Given the description of an element on the screen output the (x, y) to click on. 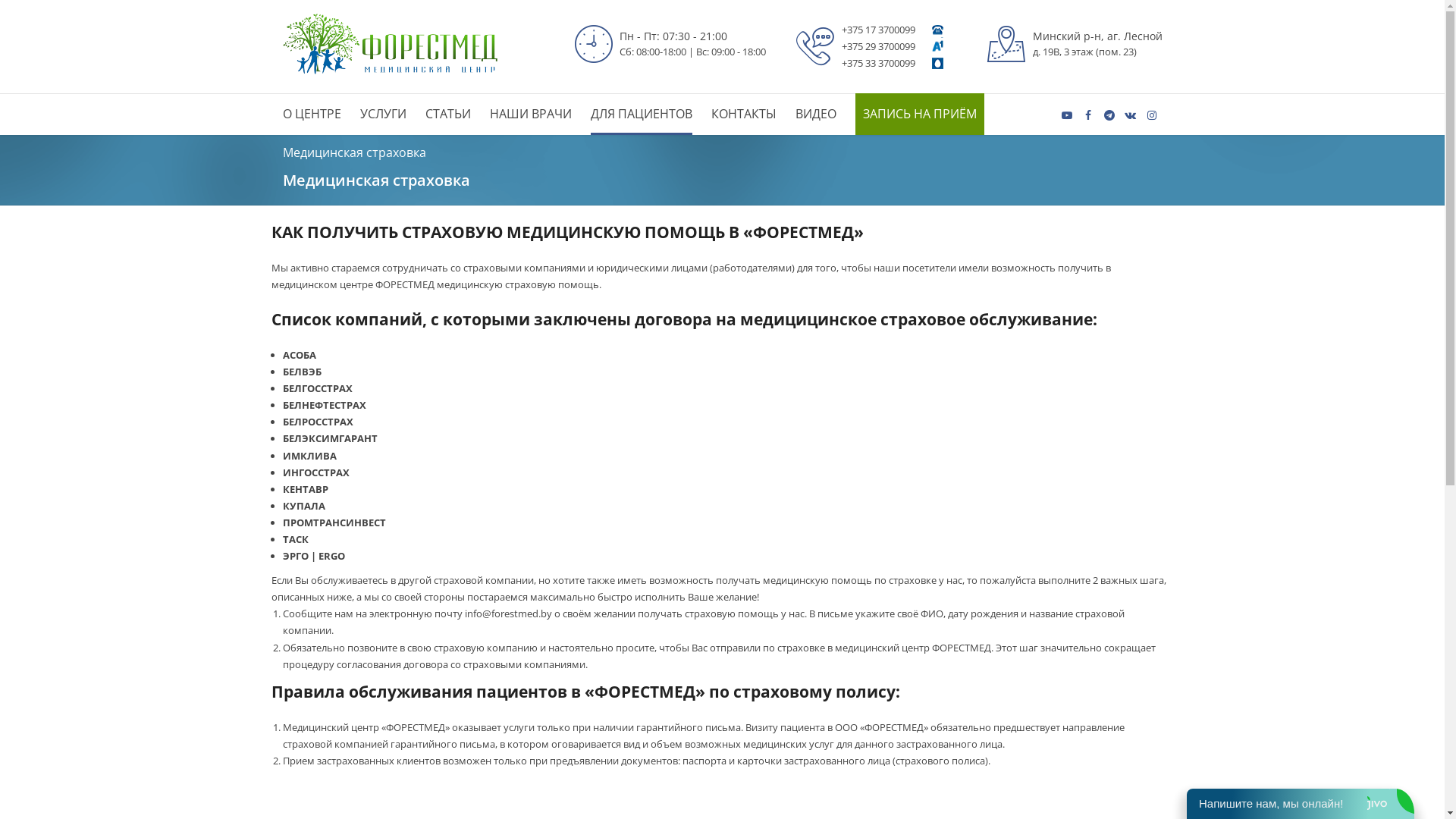
+375 33 3700099 Element type: text (878, 62)
info@forestmed.by Element type: text (508, 613)
+375 17 3700099 Element type: text (878, 29)
+375 29 3700099 Element type: text (878, 46)
